Given the description of an element on the screen output the (x, y) to click on. 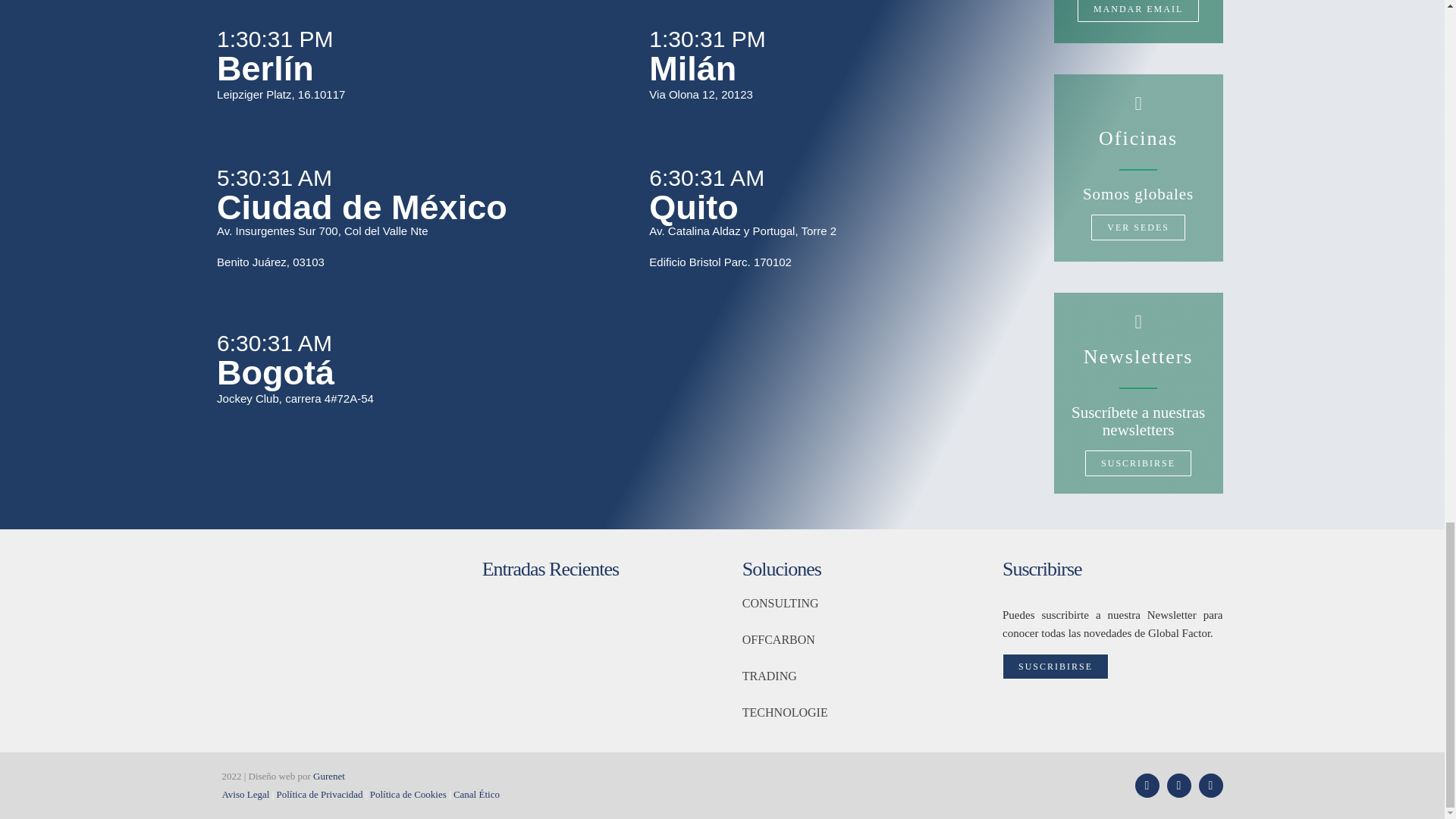
X (1146, 785)
